Given the description of an element on the screen output the (x, y) to click on. 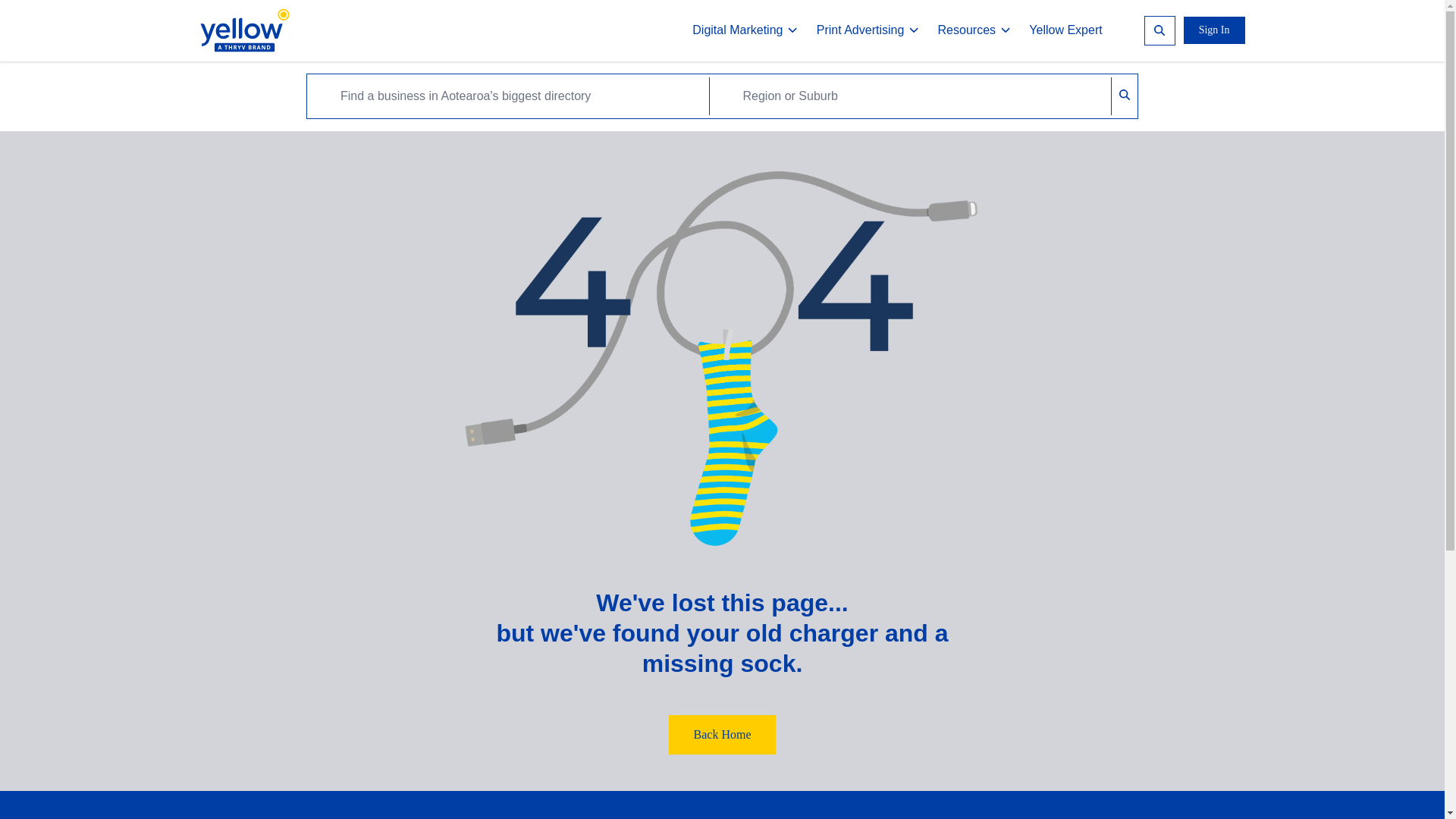
Print Advertising (867, 29)
Resources (973, 29)
Digital Marketing (744, 29)
